Given the description of an element on the screen output the (x, y) to click on. 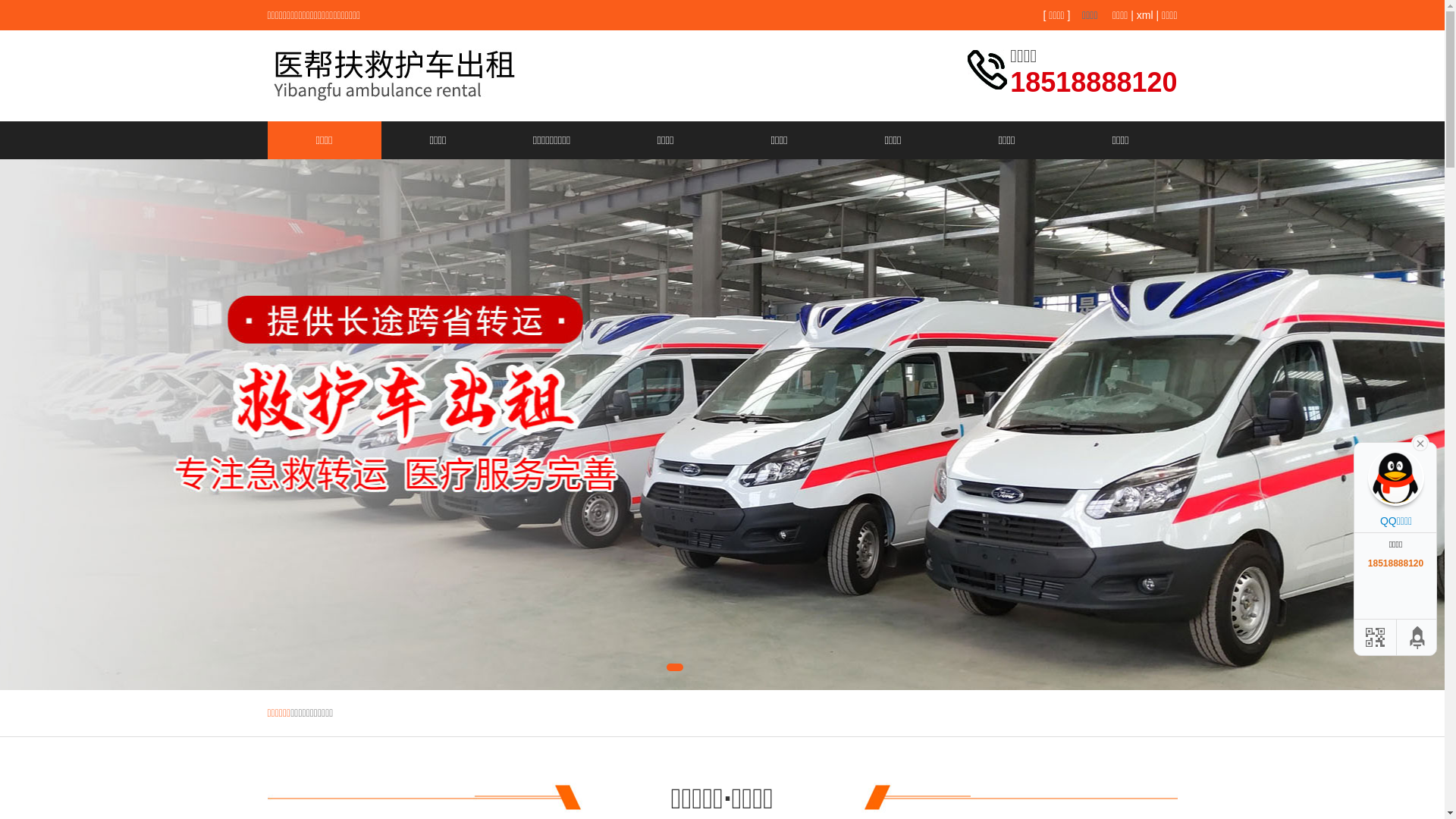
xml Element type: text (1144, 15)
  Element type: text (1420, 442)
1 Element type: text (674, 667)
